Given the description of an element on the screen output the (x, y) to click on. 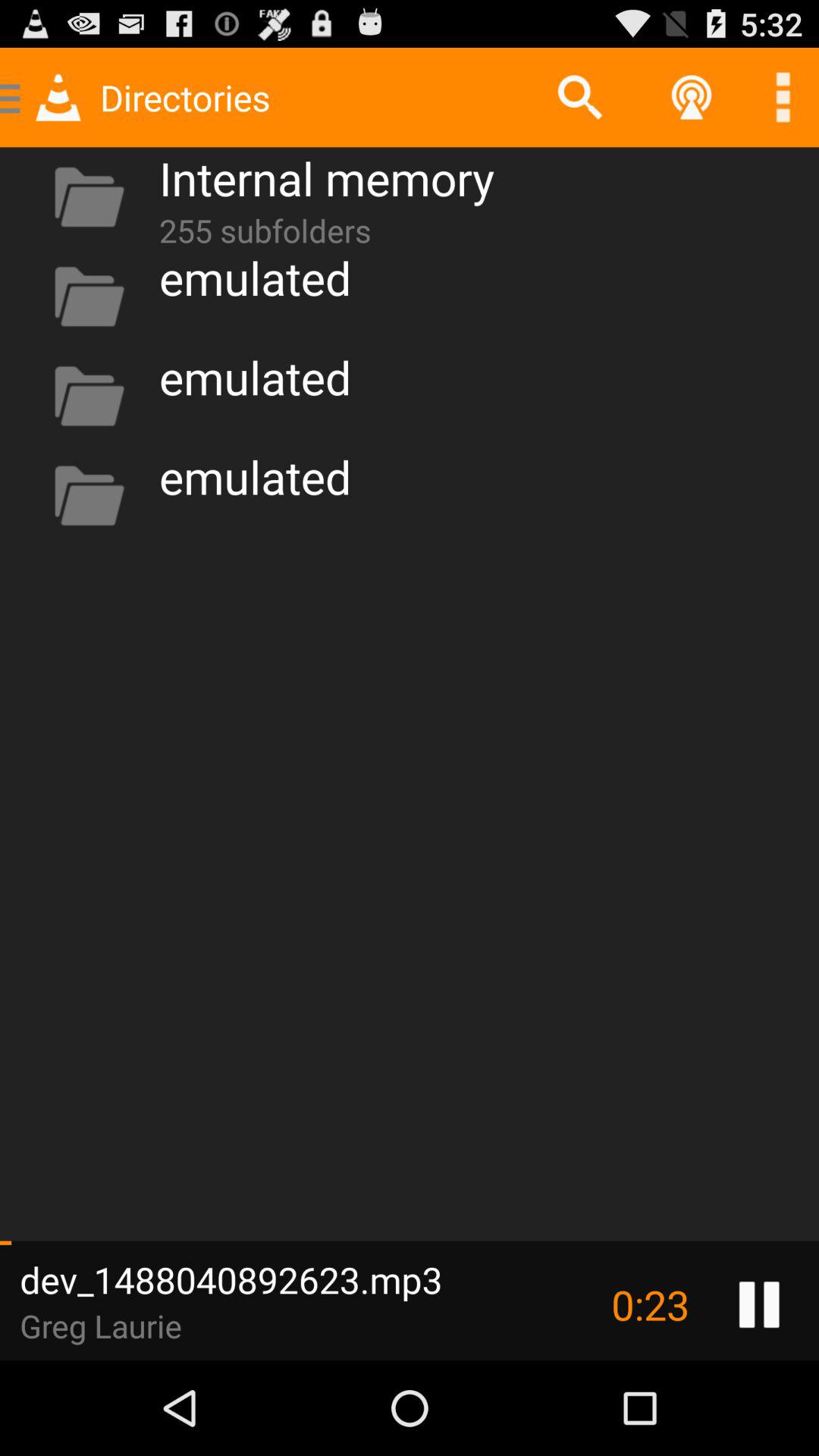
select app below the internal memory icon (265, 227)
